Given the description of an element on the screen output the (x, y) to click on. 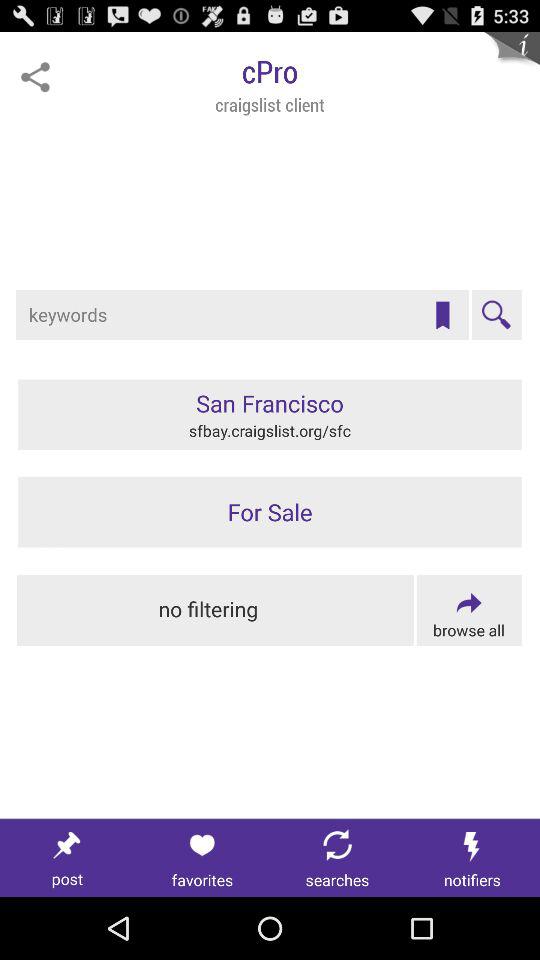
favourites (442, 315)
